Given the description of an element on the screen output the (x, y) to click on. 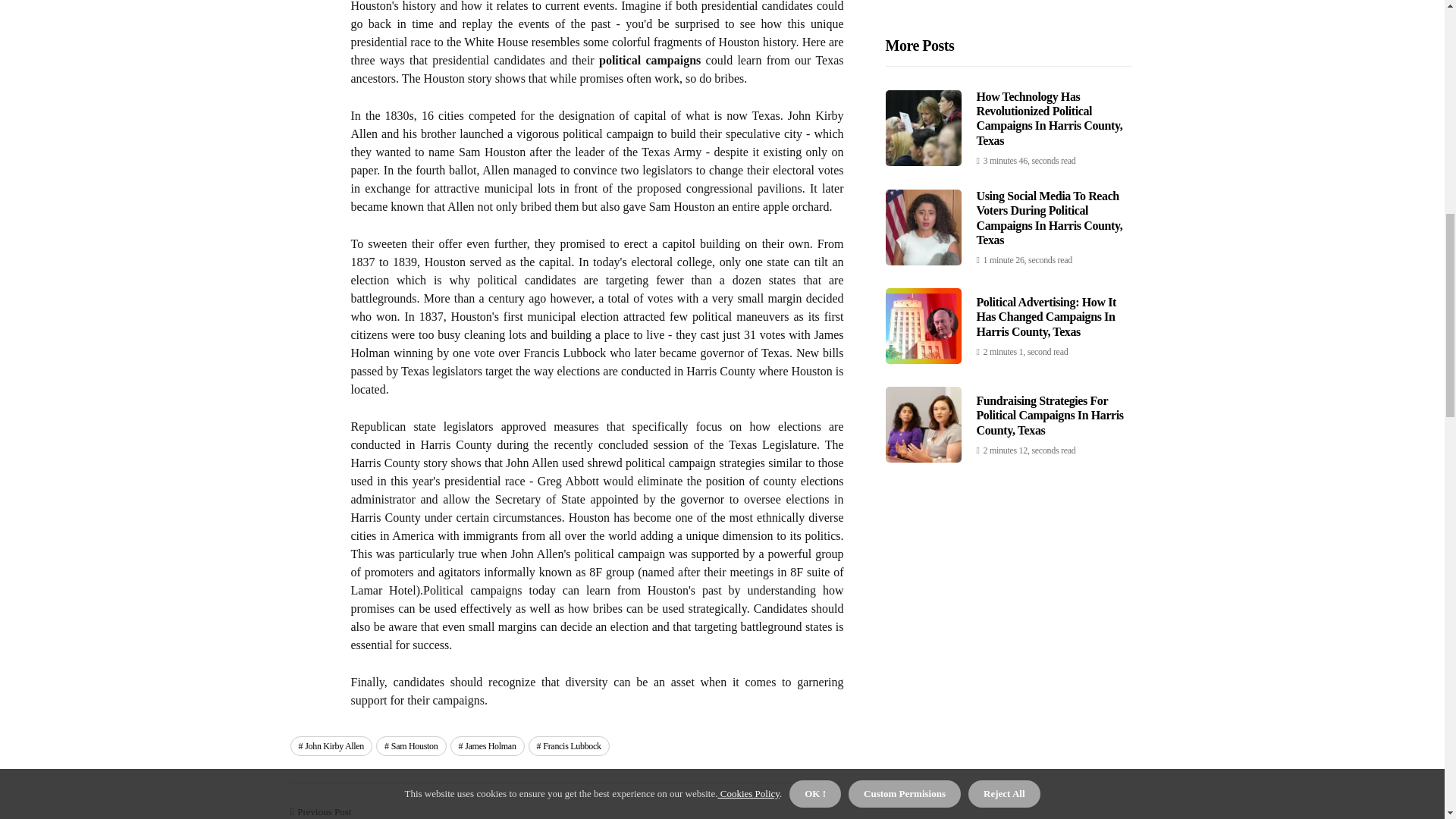
Francis Lubbock (569, 745)
John Kirby Allen (330, 745)
Sam Houston (410, 745)
James Holman (486, 745)
